Given the description of an element on the screen output the (x, y) to click on. 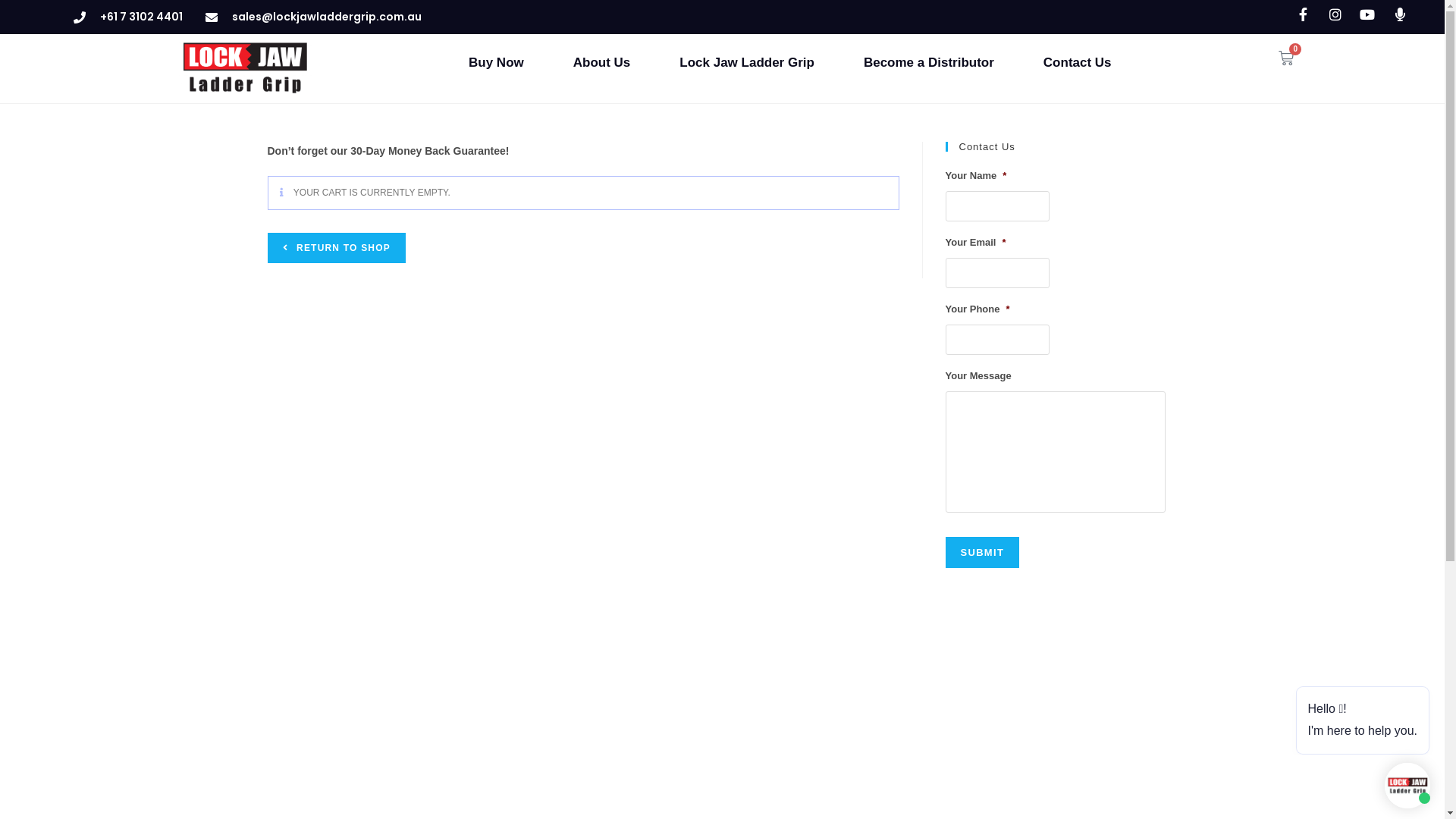
sales@lockjawladdergrip.com.au Element type: text (313, 16)
RETURN TO SHOP Element type: text (335, 247)
Buy Now Element type: text (496, 62)
Lock Jaw Ladder Grip Element type: text (746, 62)
+61 7 3102 4401 Element type: text (127, 16)
Become a Distributor Element type: text (928, 62)
Submit Element type: text (981, 551)
About Us Element type: text (602, 62)
0 Element type: text (1285, 58)
Contact Us Element type: text (1077, 62)
